Given the description of an element on the screen output the (x, y) to click on. 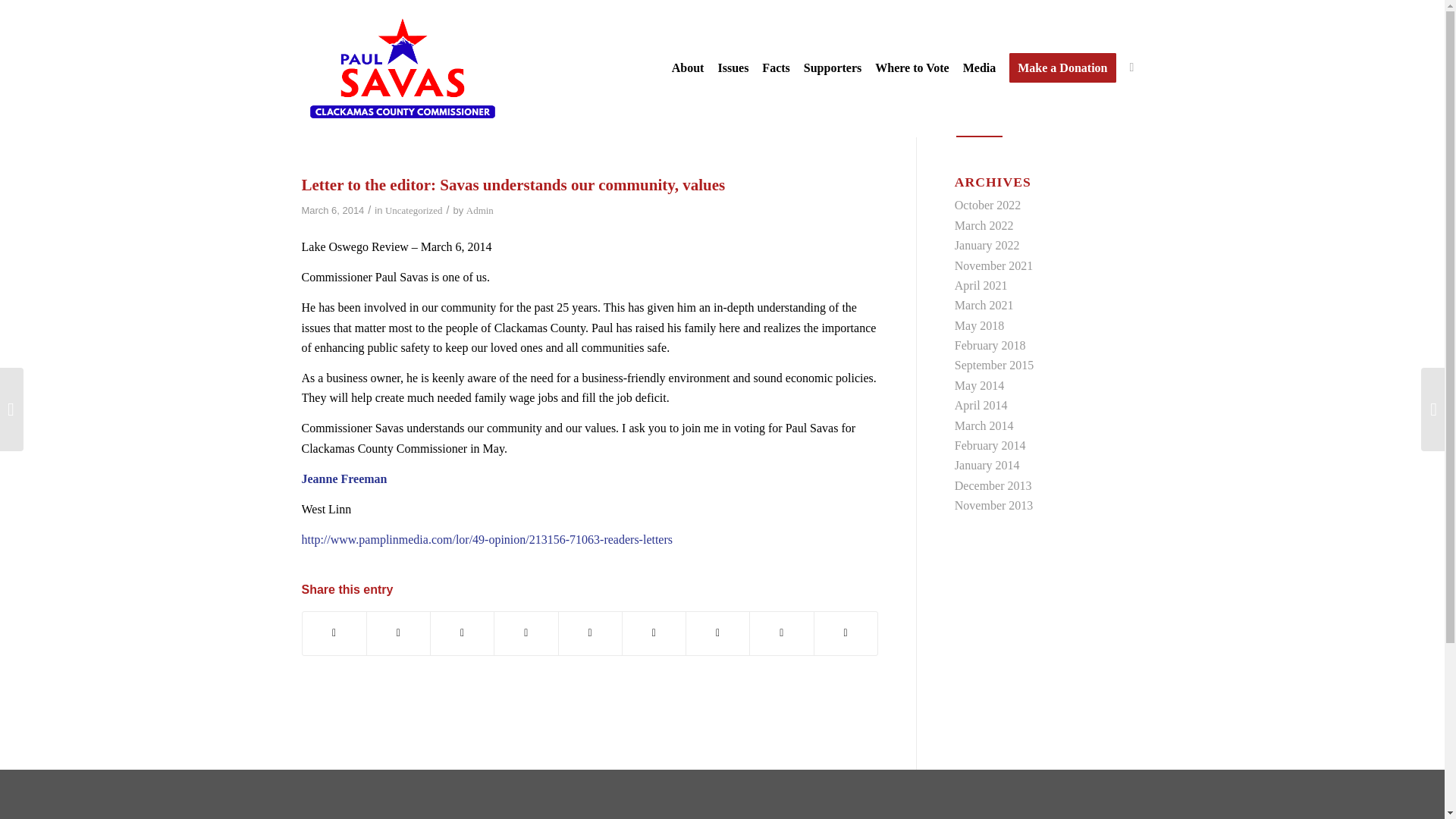
April 2014 (981, 404)
November 2013 (994, 504)
December 2013 (993, 485)
Facebook (1131, 67)
February 2014 (990, 445)
March 2021 (984, 305)
May 2014 (979, 385)
Admin (479, 210)
March 2022 (984, 225)
October 2022 (988, 205)
